Given the description of an element on the screen output the (x, y) to click on. 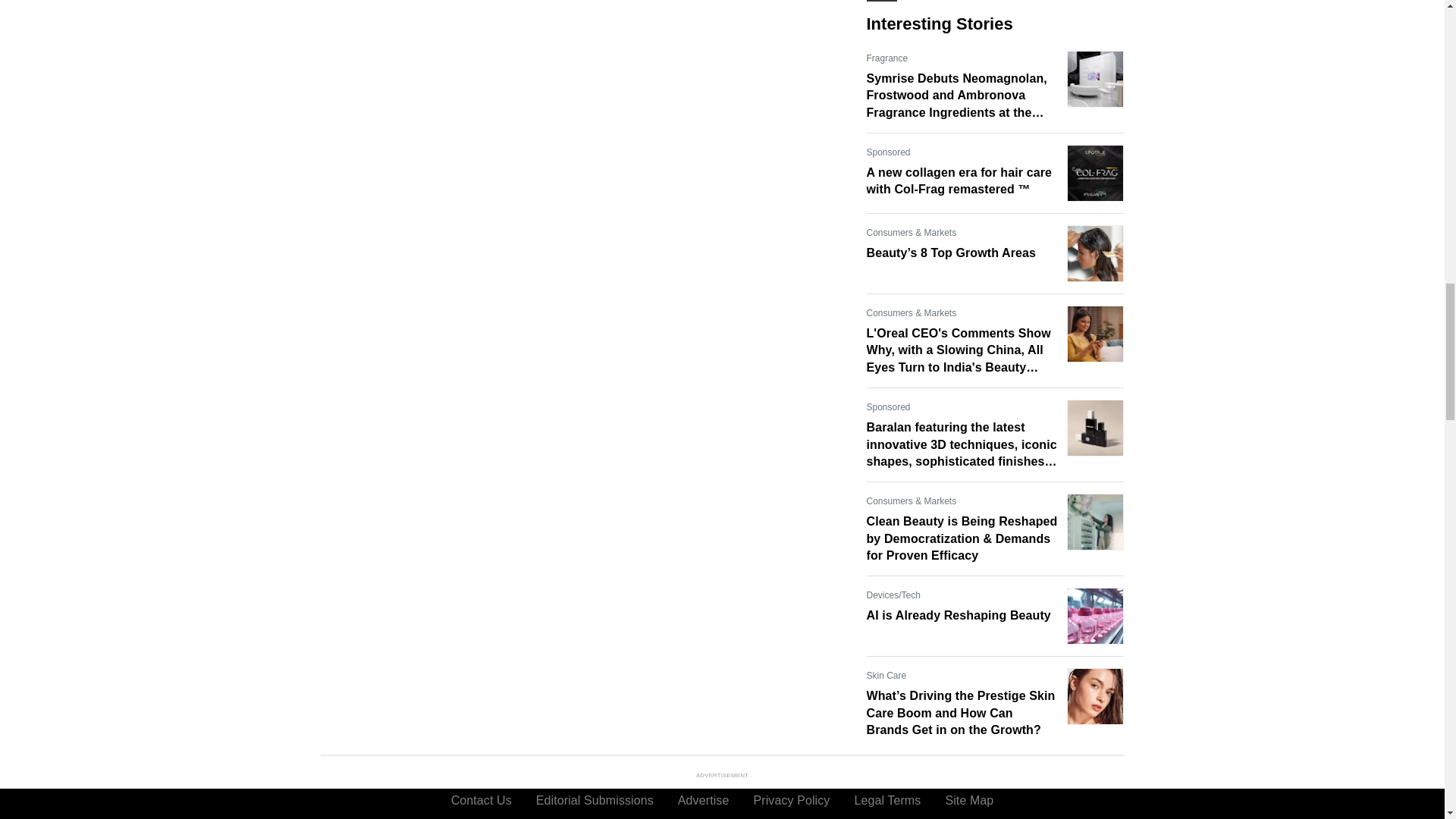
Sponsored (888, 151)
Sponsored (888, 406)
